Given the description of an element on the screen output the (x, y) to click on. 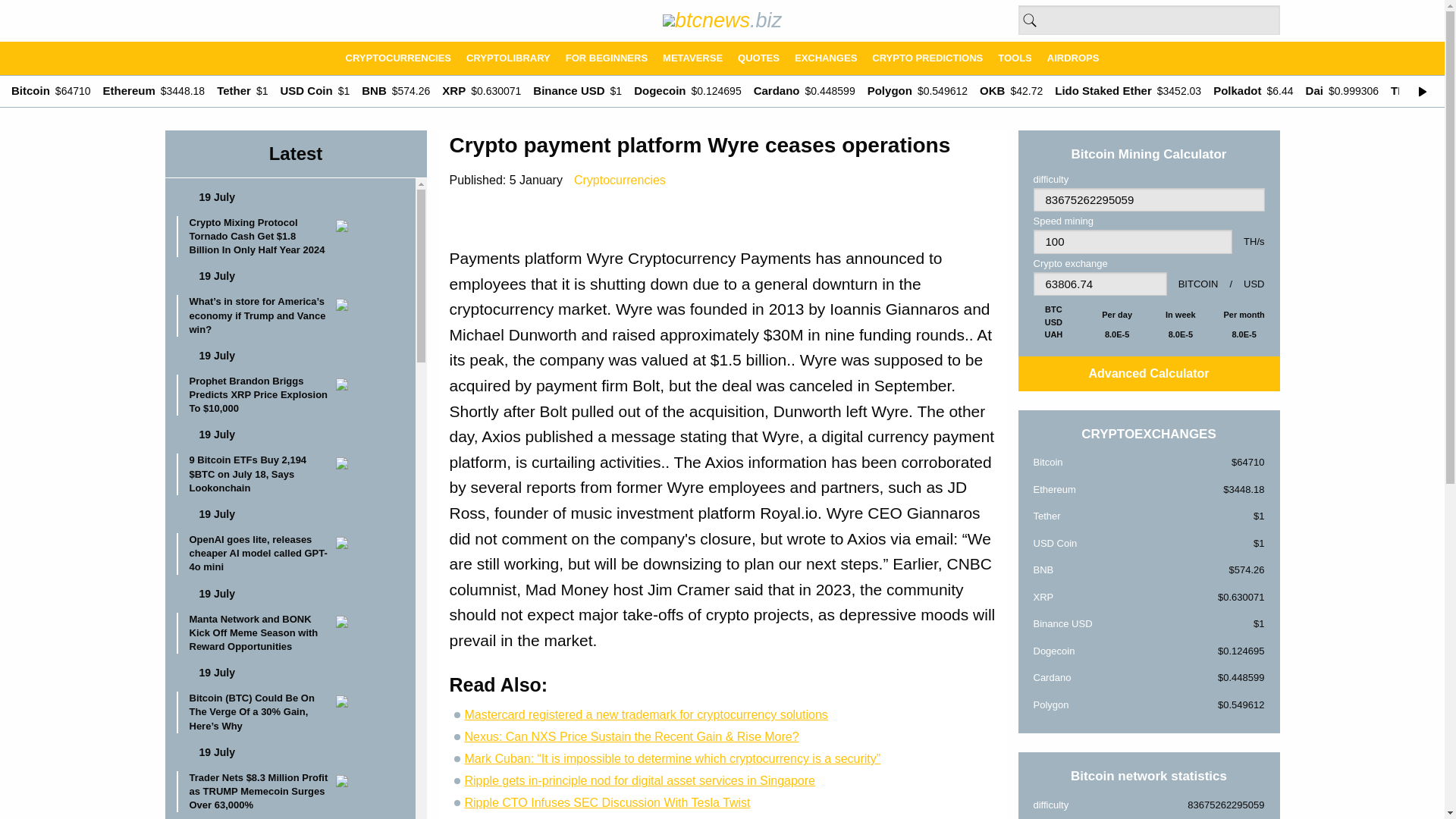
CRYPTO PREDICTIONS (927, 57)
AIRDROPS (1072, 57)
Ripple CTO Infuses SEC Discussion With Tesla Twist (606, 802)
METAVERSE (692, 57)
EXCHANGES (825, 57)
100 (1131, 241)
Search (1029, 20)
Search (1029, 20)
83675262295059 (1147, 200)
QUOTES (758, 57)
63806.74 (1099, 283)
CRYPTOCURRENCIES (397, 57)
